Given the description of an element on the screen output the (x, y) to click on. 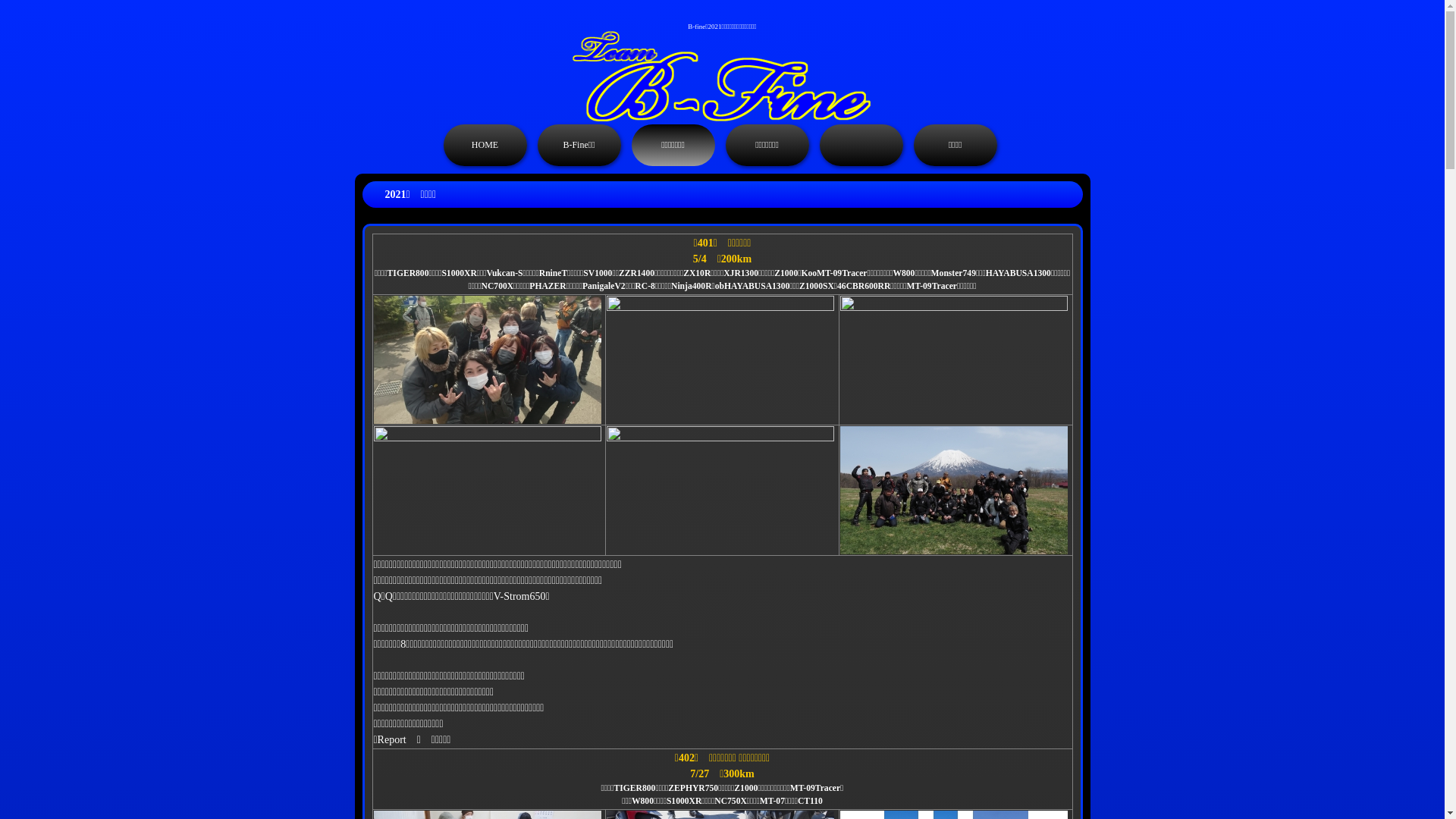
HOME Element type: text (484, 145)
